Given the description of an element on the screen output the (x, y) to click on. 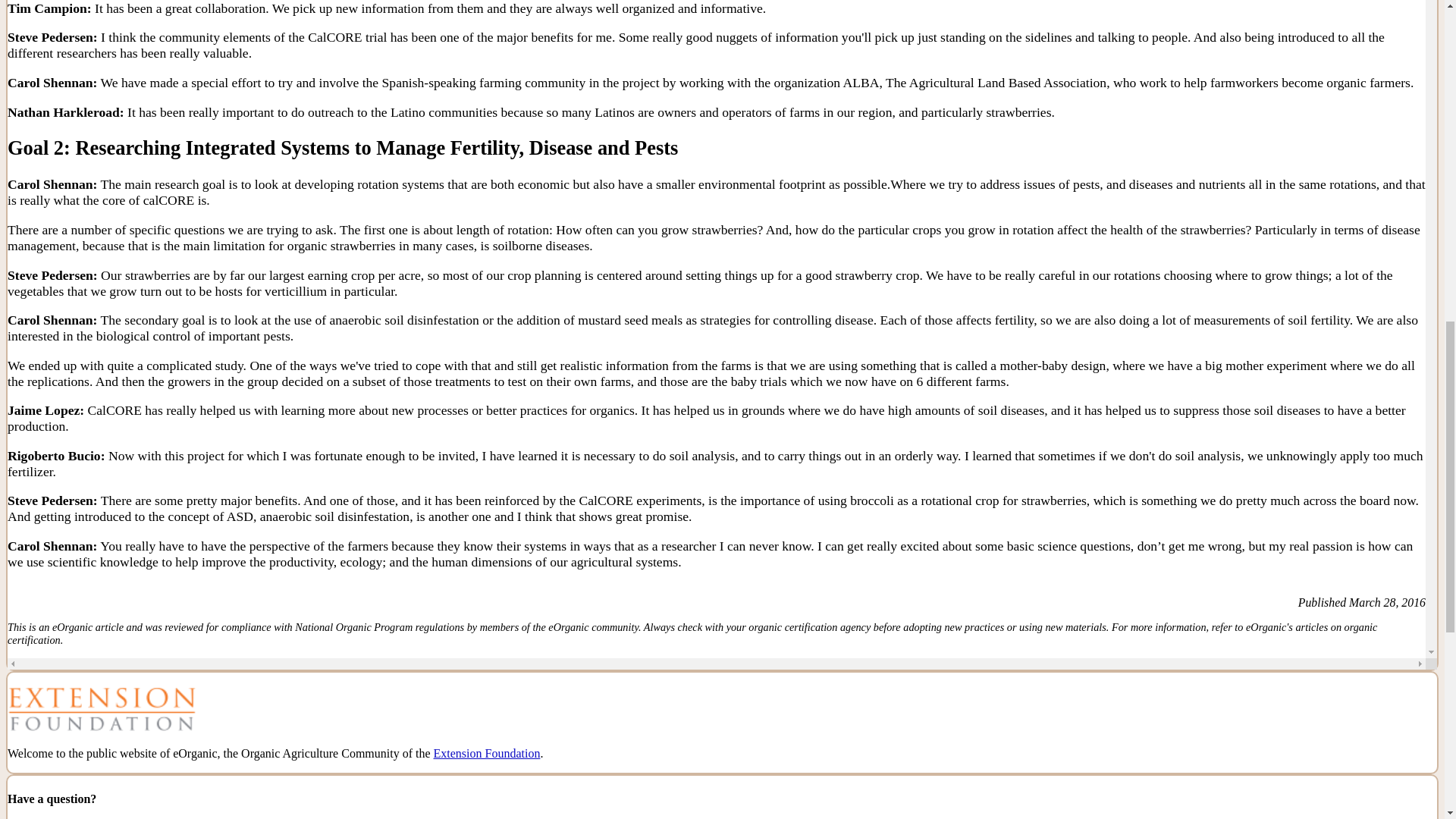
eOrganic.info (1088, 166)
